Given the description of an element on the screen output the (x, y) to click on. 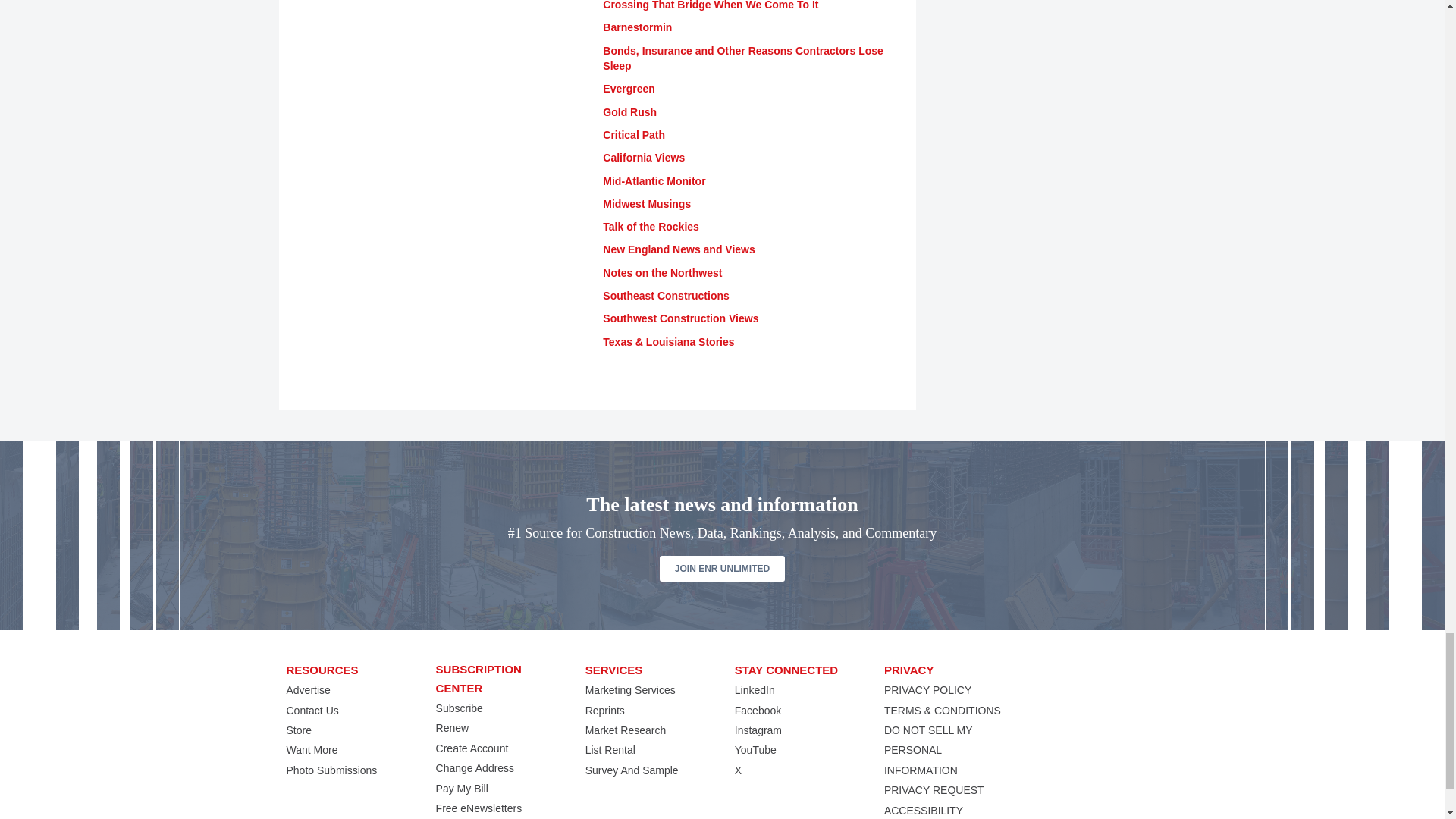
California Views (643, 157)
Midwest Musings (646, 203)
Bonds, Insurance and Other Reasons Contractors Lose Sleep (742, 58)
Barnestormin (636, 27)
Mid-Atlantic Monitor (653, 181)
Evergreen (627, 88)
Critical Path (633, 134)
Gold Rush (629, 111)
Crossing That Bridge When We Come To It (710, 5)
